Given the description of an element on the screen output the (x, y) to click on. 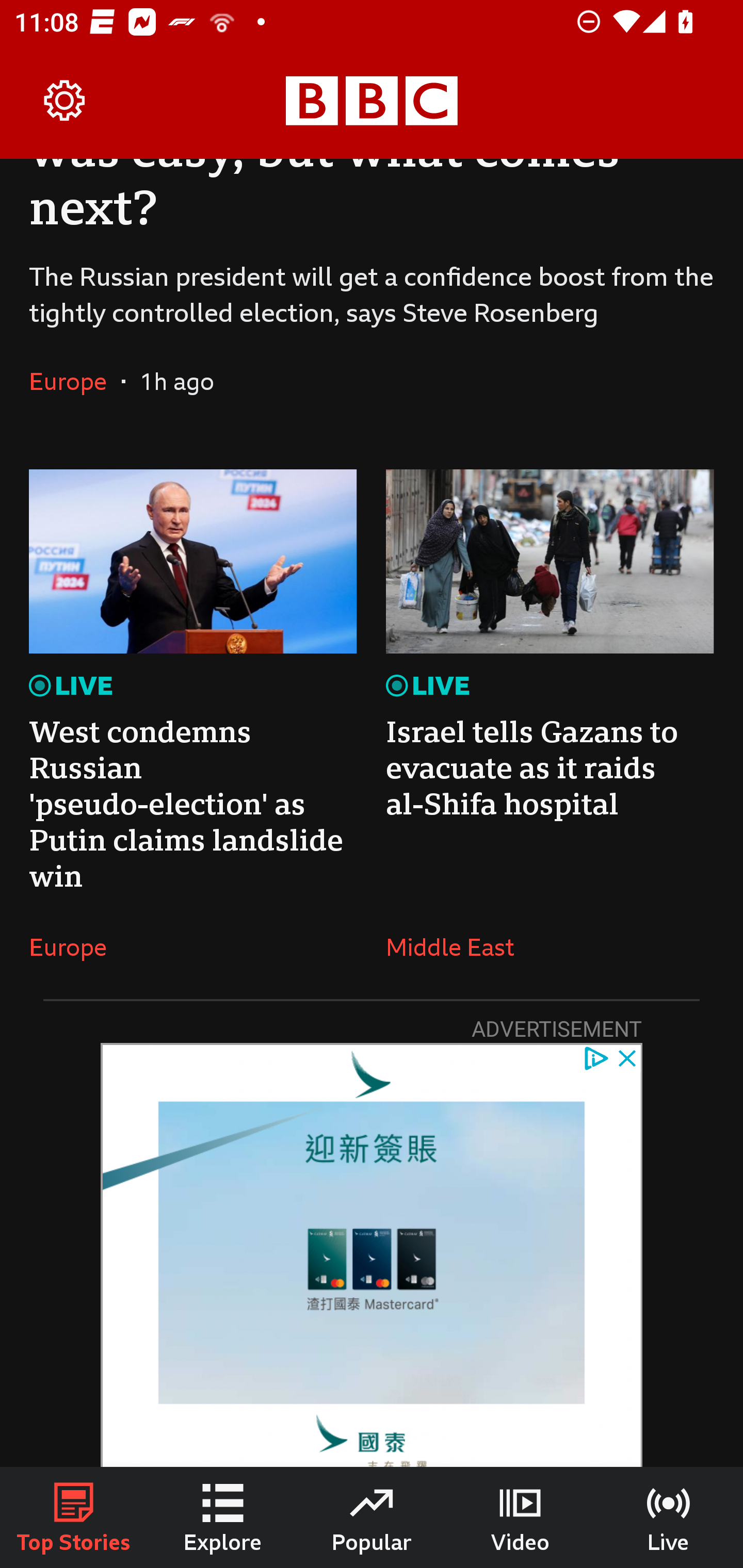
Settings (64, 100)
Europe In the section Europe (74, 380)
Europe In the section Europe (74, 946)
Middle East In the section Middle East (457, 946)
privacy_small (595, 1057)
privacy_small (595, 1057)
close_button (627, 1057)
Explore (222, 1517)
Popular (371, 1517)
Video (519, 1517)
Live (668, 1517)
